Given the description of an element on the screen output the (x, y) to click on. 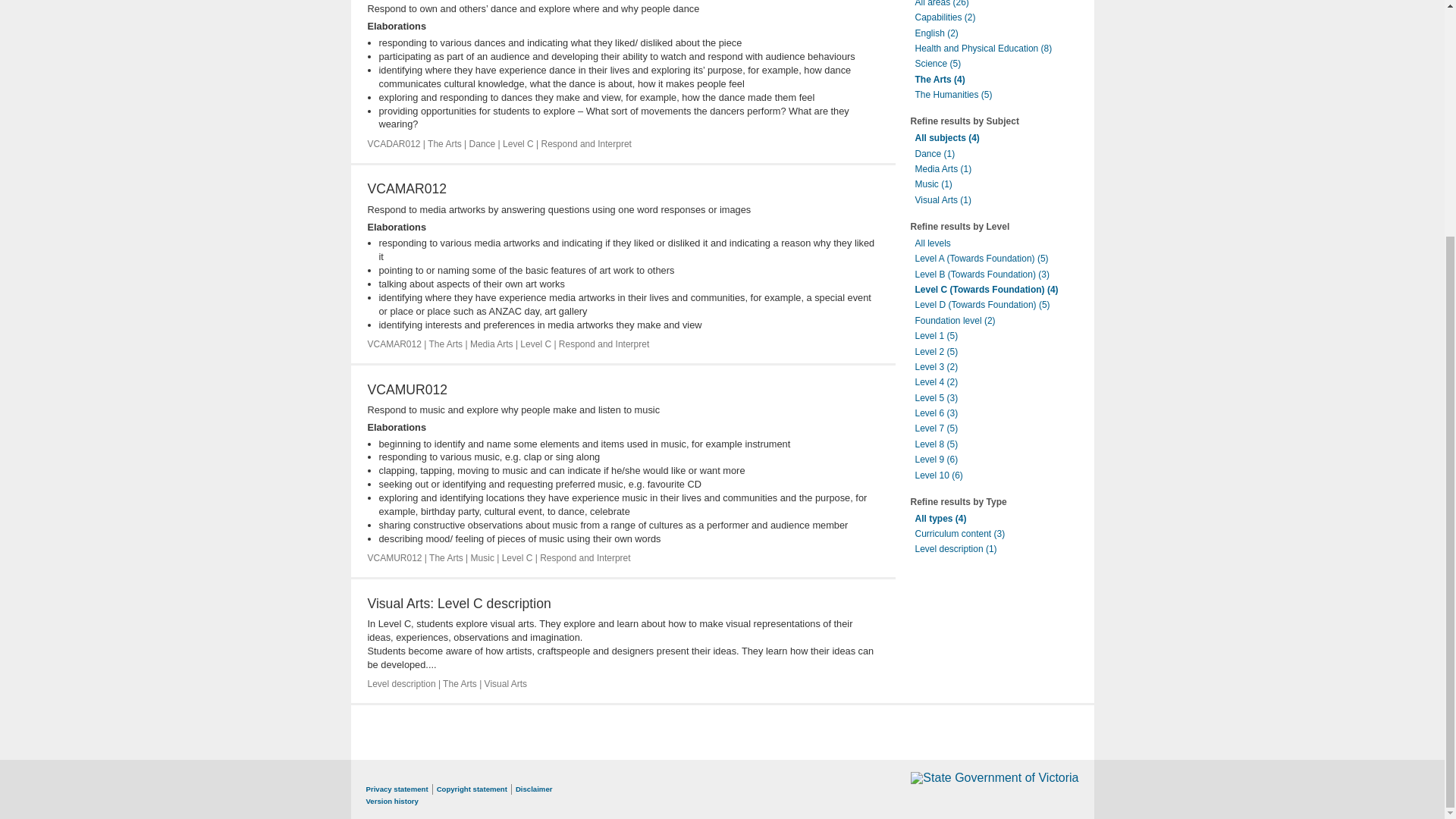
Link will open in a new window. (994, 777)
